Given the description of an element on the screen output the (x, y) to click on. 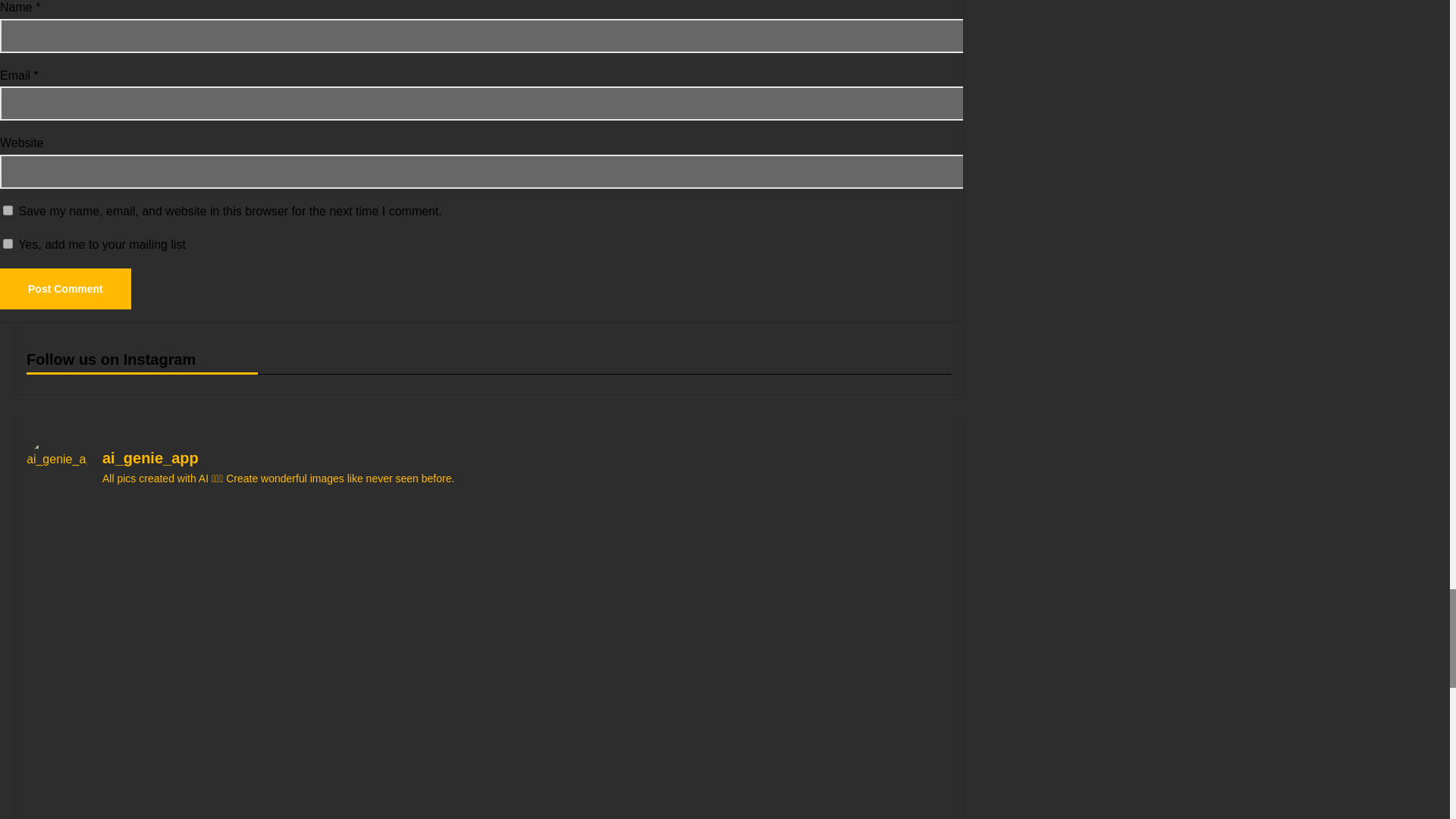
1 (7, 243)
Post Comment (65, 288)
yes (7, 210)
